Given the description of an element on the screen output the (x, y) to click on. 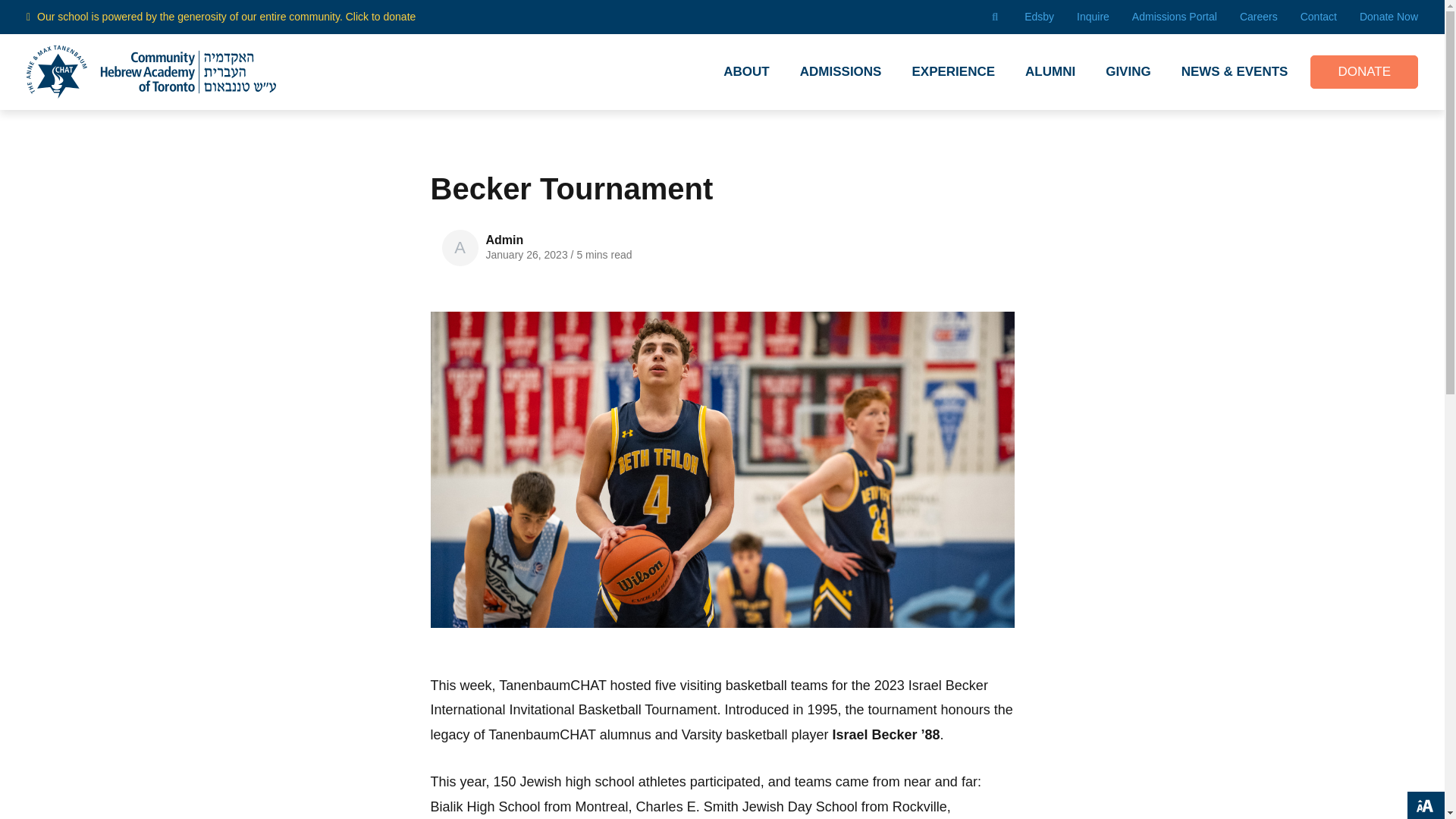
Contact (1318, 16)
Inquire (1093, 16)
Admissions Portal (1174, 16)
Donate Now (1388, 16)
Careers (1259, 16)
Edsby (1039, 16)
